Given the description of an element on the screen output the (x, y) to click on. 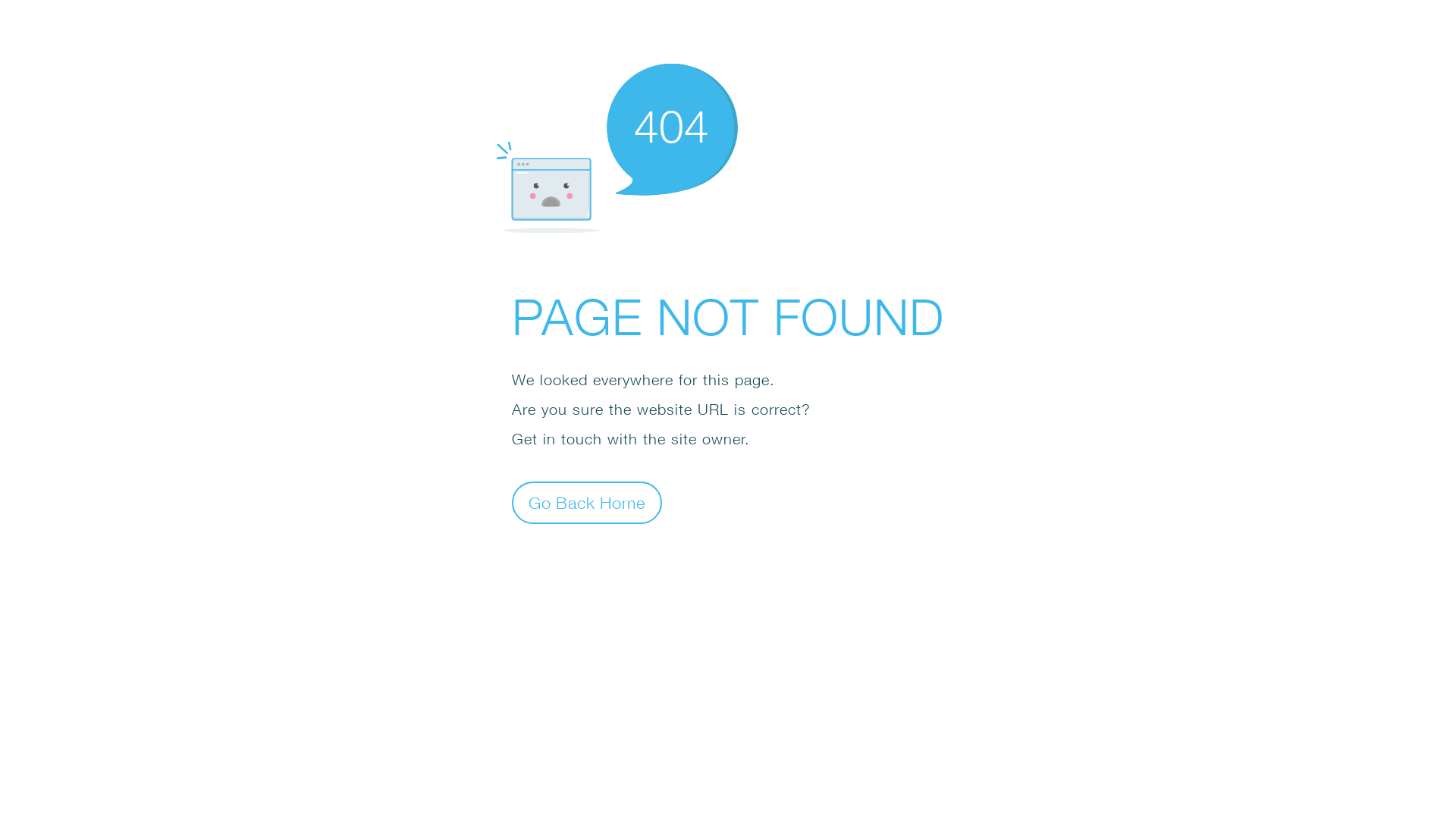
Go Back Home Element type: text (586, 502)
